Given the description of an element on the screen output the (x, y) to click on. 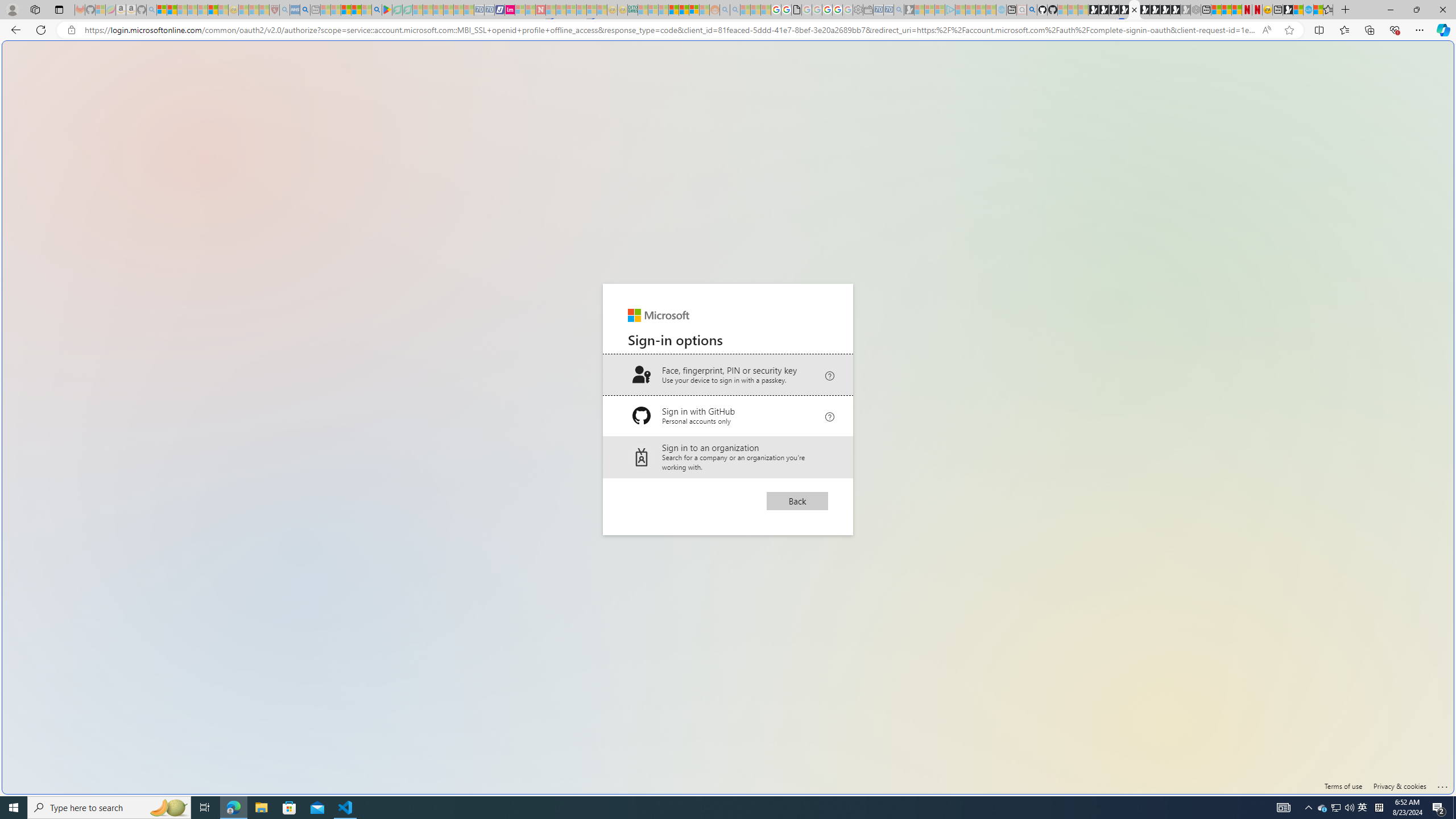
github - Search (1032, 9)
Pets - MSN (356, 9)
Privacy & cookies (1399, 786)
